Given the description of an element on the screen output the (x, y) to click on. 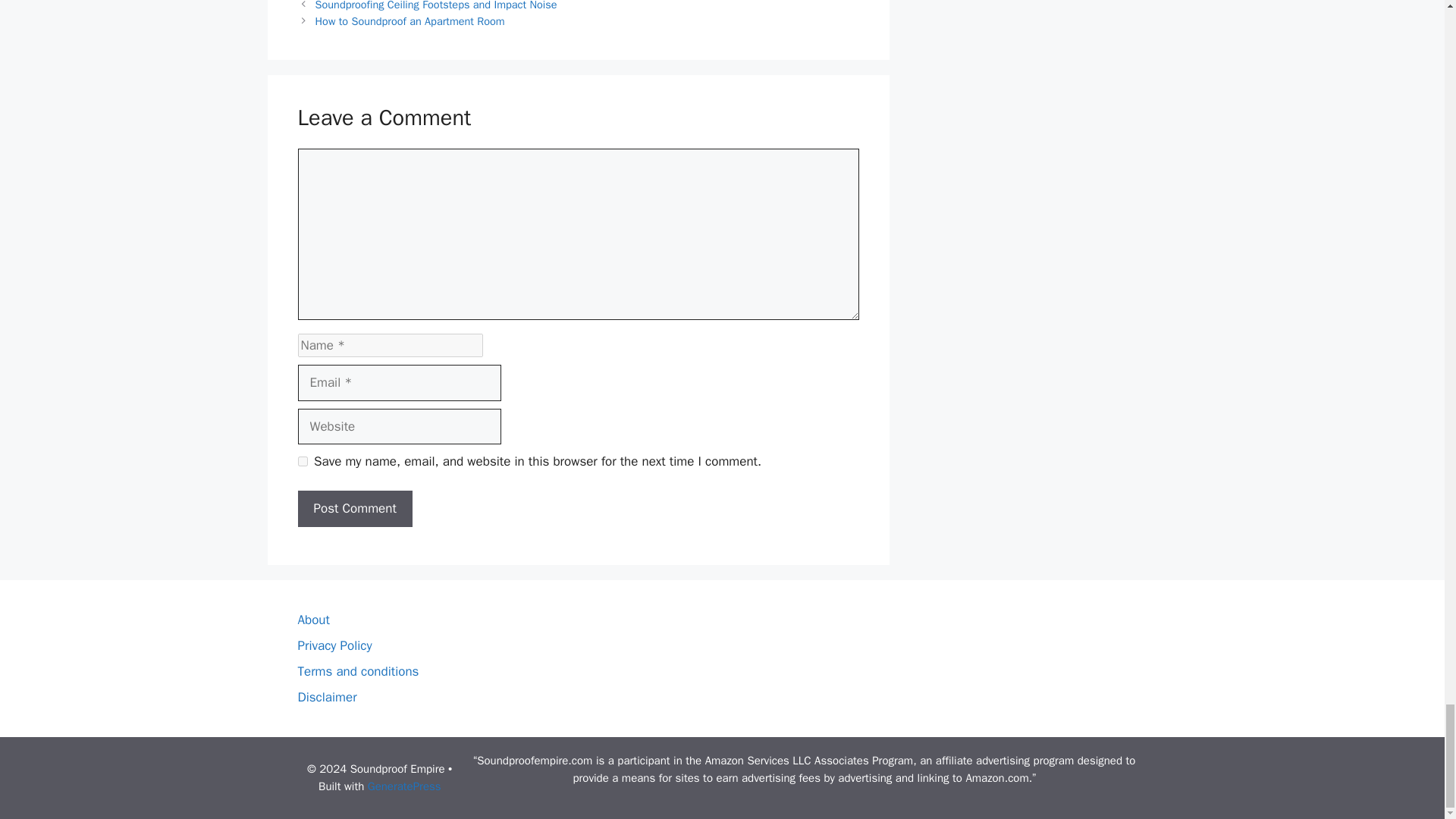
Soundproofing Ceiling Footsteps and Impact Noise (436, 5)
How to Soundproof an Apartment Room (410, 20)
About (313, 619)
yes (302, 461)
Post Comment (354, 508)
Post Comment (354, 508)
